Given the description of an element on the screen output the (x, y) to click on. 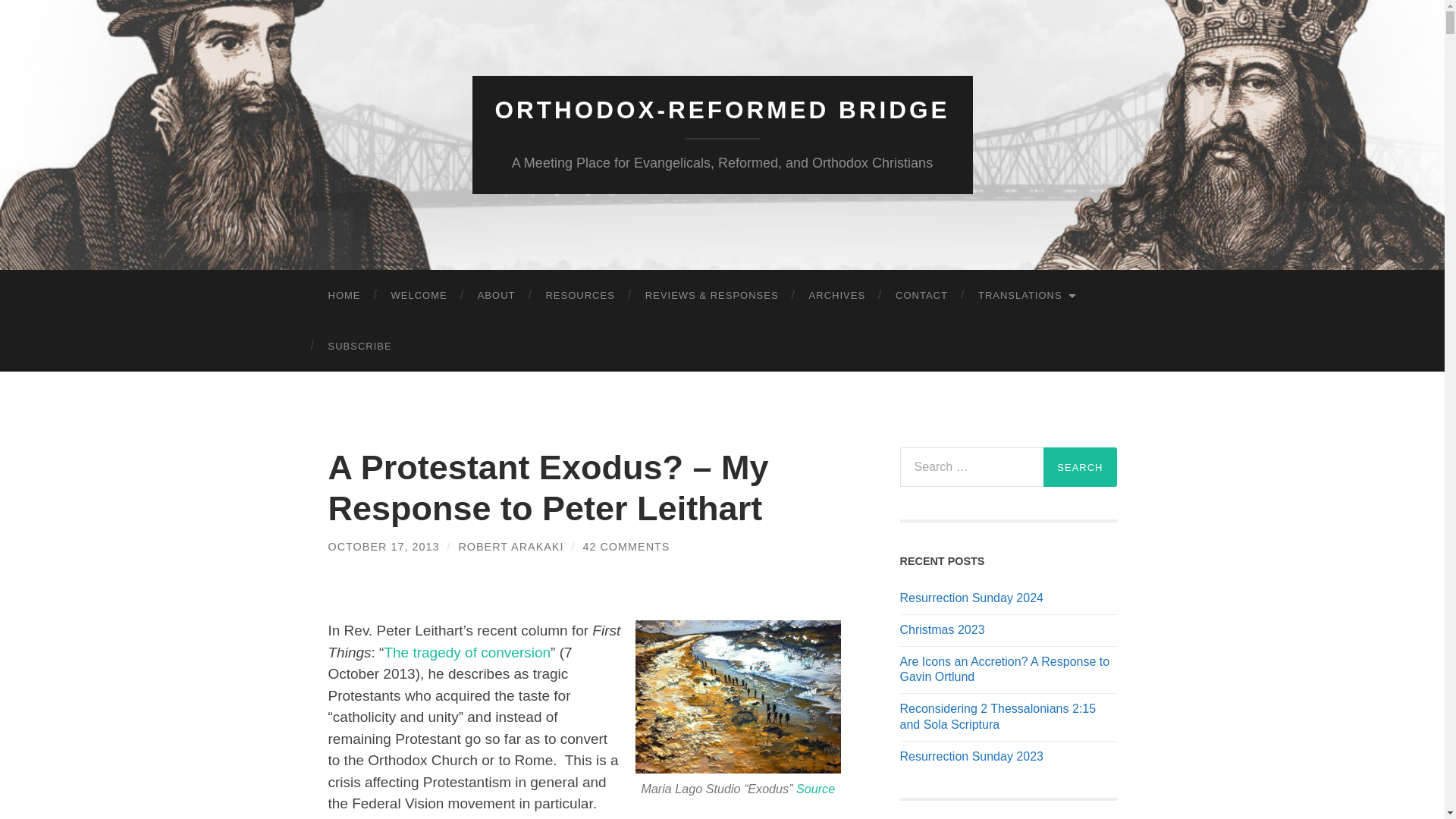
42 COMMENTS (625, 546)
Posts by Robert Arakaki (510, 546)
Search (1079, 466)
ARCHIVES (836, 295)
TRANSLATIONS (1025, 295)
ROBERT ARAKAKI (510, 546)
WELCOME (419, 295)
Search (1079, 466)
ABOUT (497, 295)
Source (815, 788)
SUBSCRIBE (359, 346)
CONTACT (921, 295)
RESOURCES (578, 295)
ORTHODOX-REFORMED BRIDGE (722, 109)
The tragedy of conversion (467, 652)
